Given the description of an element on the screen output the (x, y) to click on. 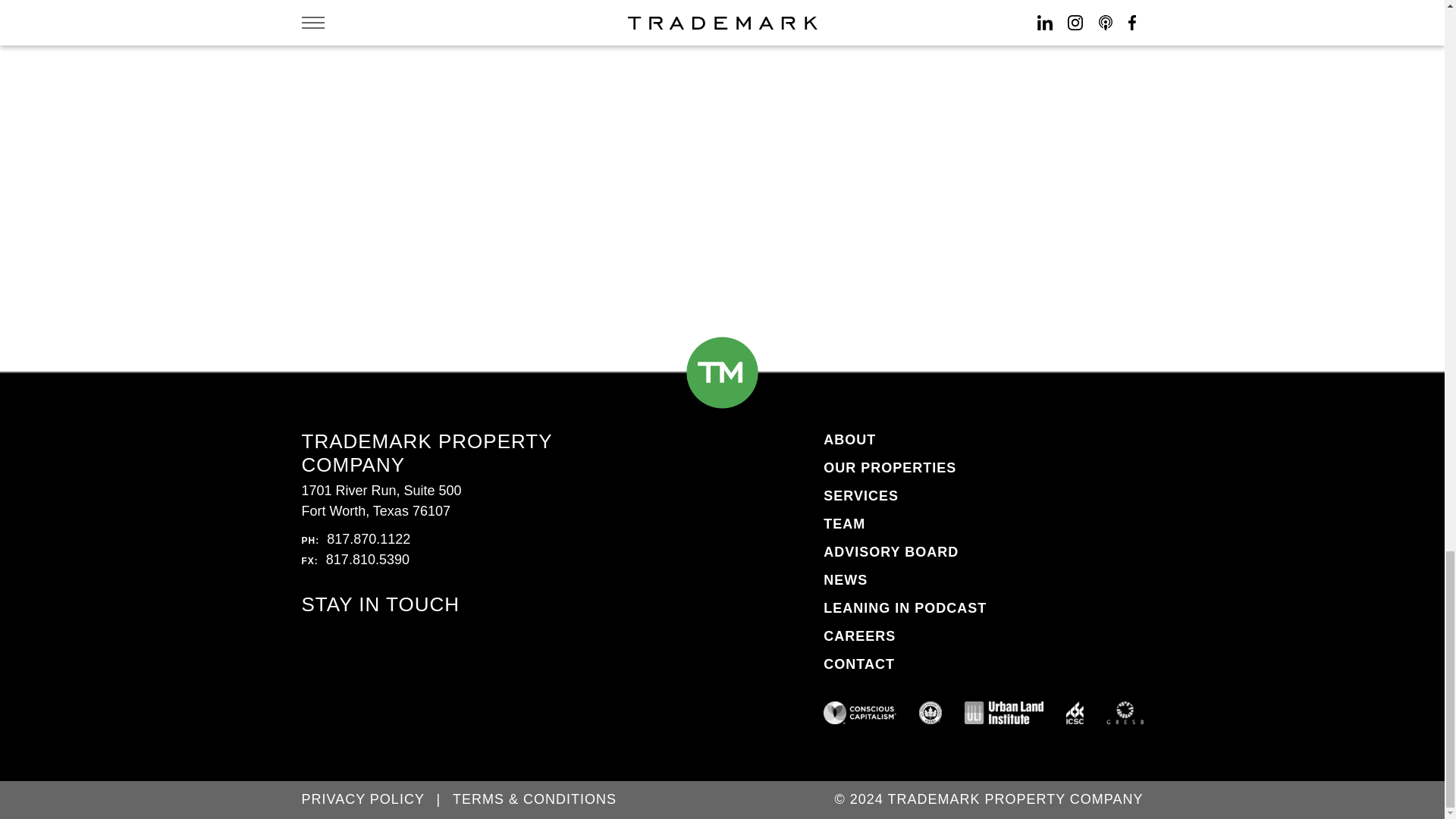
CAREERS (859, 635)
OUR PROPERTIES (890, 467)
TEAM (844, 523)
817.870.1122 (368, 539)
ADVISORY BOARD (891, 551)
CONTACT (859, 663)
NEWS (845, 580)
LEANING IN PODCAST (905, 607)
SERVICES (861, 495)
ABOUT (850, 439)
